Given the description of an element on the screen output the (x, y) to click on. 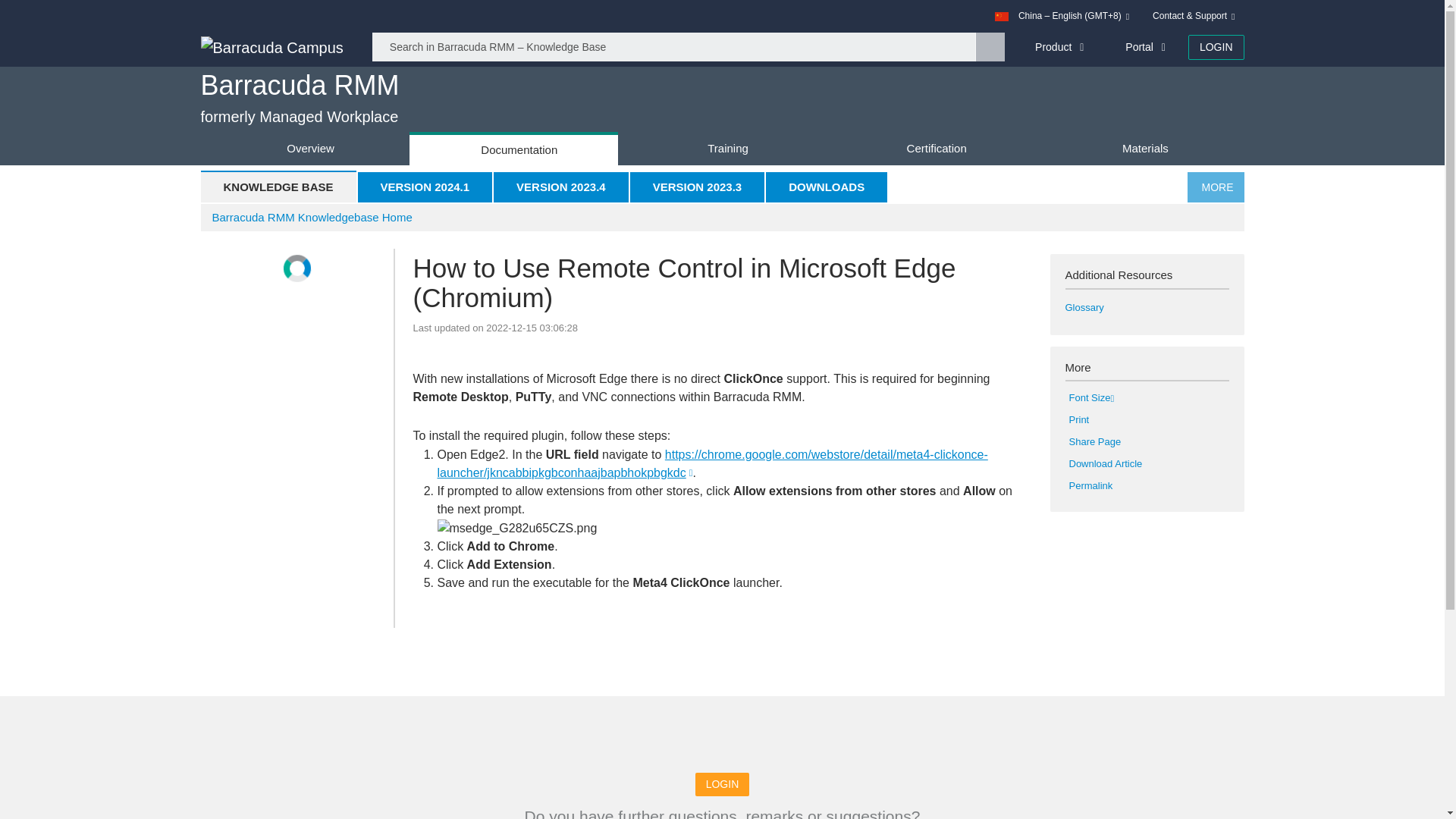
Product (1055, 46)
LOGIN (1216, 47)
Portal (1141, 46)
